Given the description of an element on the screen output the (x, y) to click on. 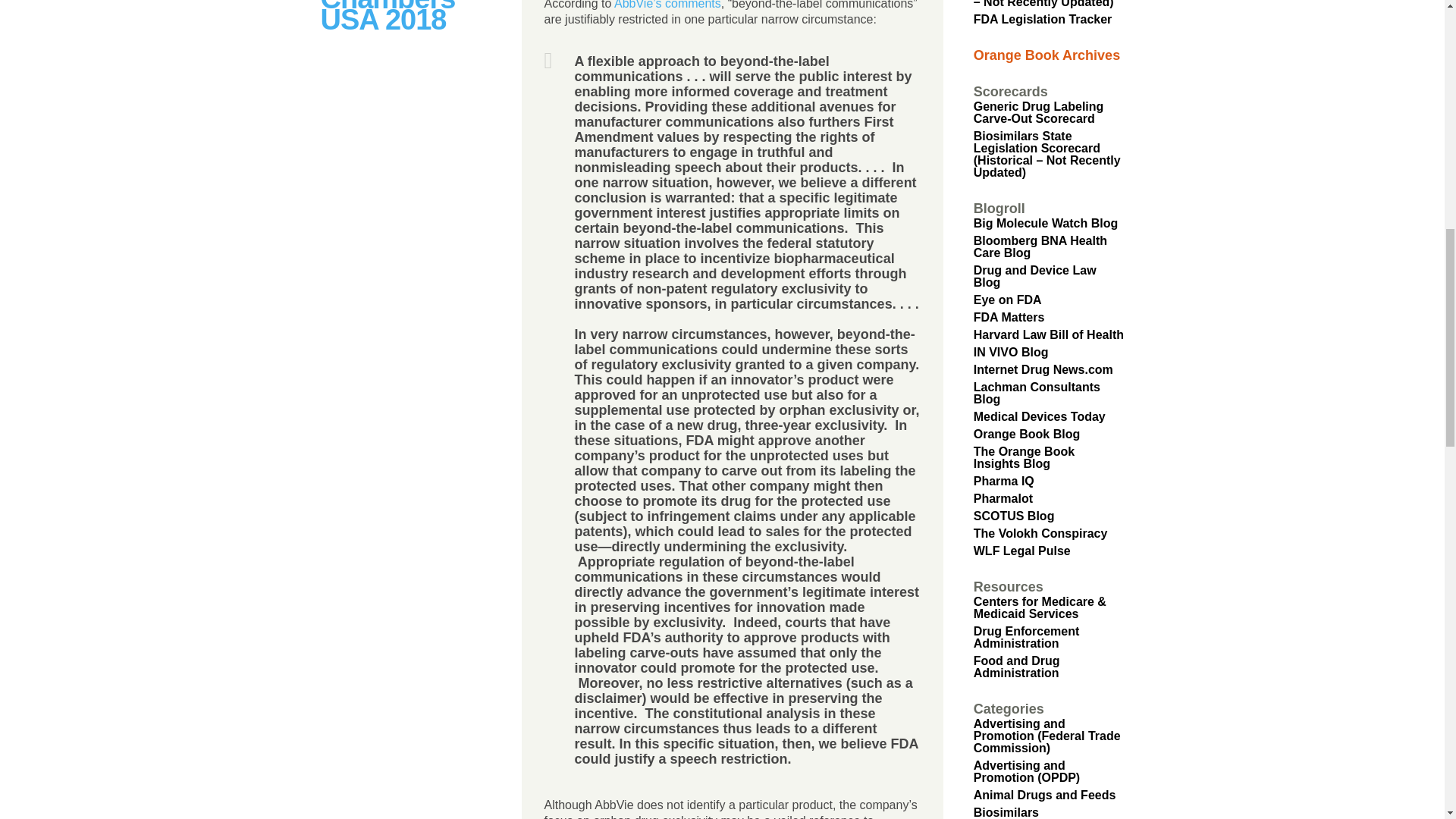
Eye on FDA (1008, 299)
Drug and Device Law Blog (1035, 276)
Generic Drug Labeling Carve-Out Scorecard (1038, 112)
Orange Book Blog (1027, 433)
FDA Matters (1009, 317)
Bloomberg BNA Health Care Blog (1040, 246)
Pharma IQ (1003, 481)
IN VIVO Blog (1011, 351)
Internet Drug News.com (1043, 369)
FDA Legislation Tracker (1043, 19)
Lachman Consultants Blog (1037, 392)
Medical Devices Today (1039, 416)
The Orange Book Insights Blog (1024, 457)
Orange Book Archives (1046, 55)
Harvard Law Bill of Health (1049, 334)
